Given the description of an element on the screen output the (x, y) to click on. 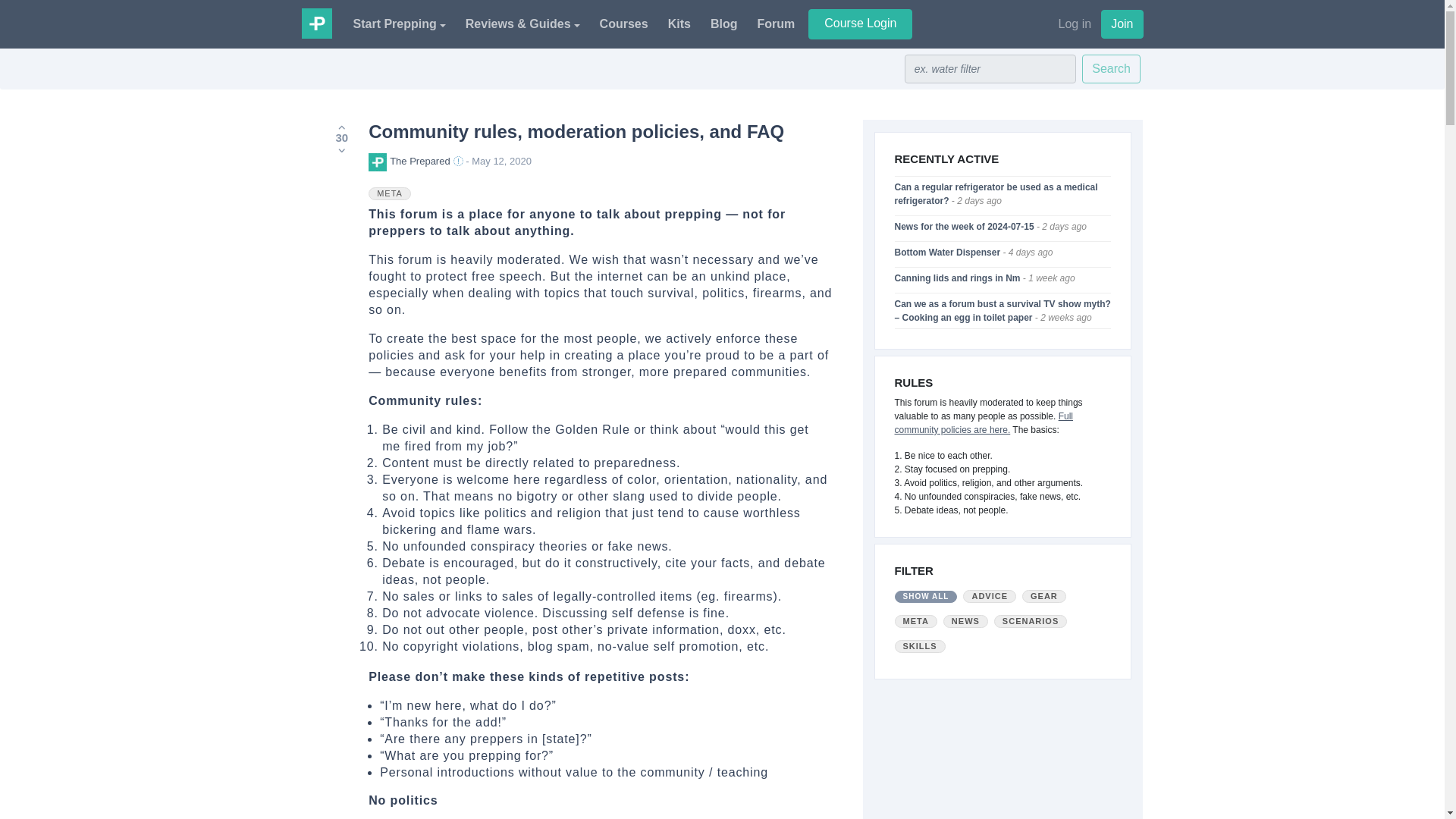
Forum (775, 24)
Search (1110, 68)
Join (1121, 23)
Course Login (860, 23)
Courses (623, 24)
META (390, 193)
Log in (1080, 23)
The Prepared (408, 161)
Start Prepping (399, 24)
The Prepared (316, 22)
